Given the description of an element on the screen output the (x, y) to click on. 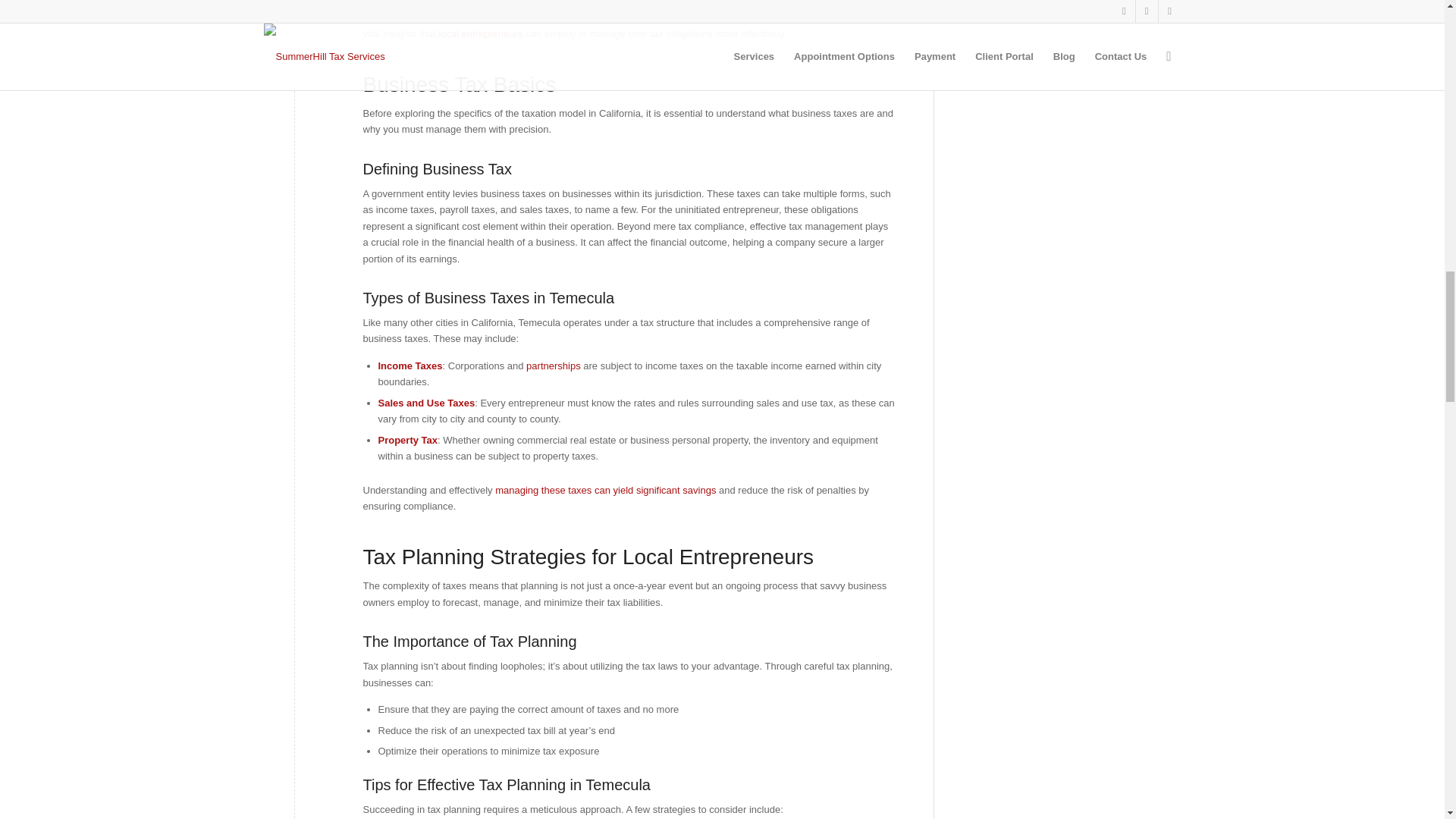
partnerships (552, 365)
managing these taxes can yield significant savings (607, 490)
local entrepreneurs (478, 33)
